Given the description of an element on the screen output the (x, y) to click on. 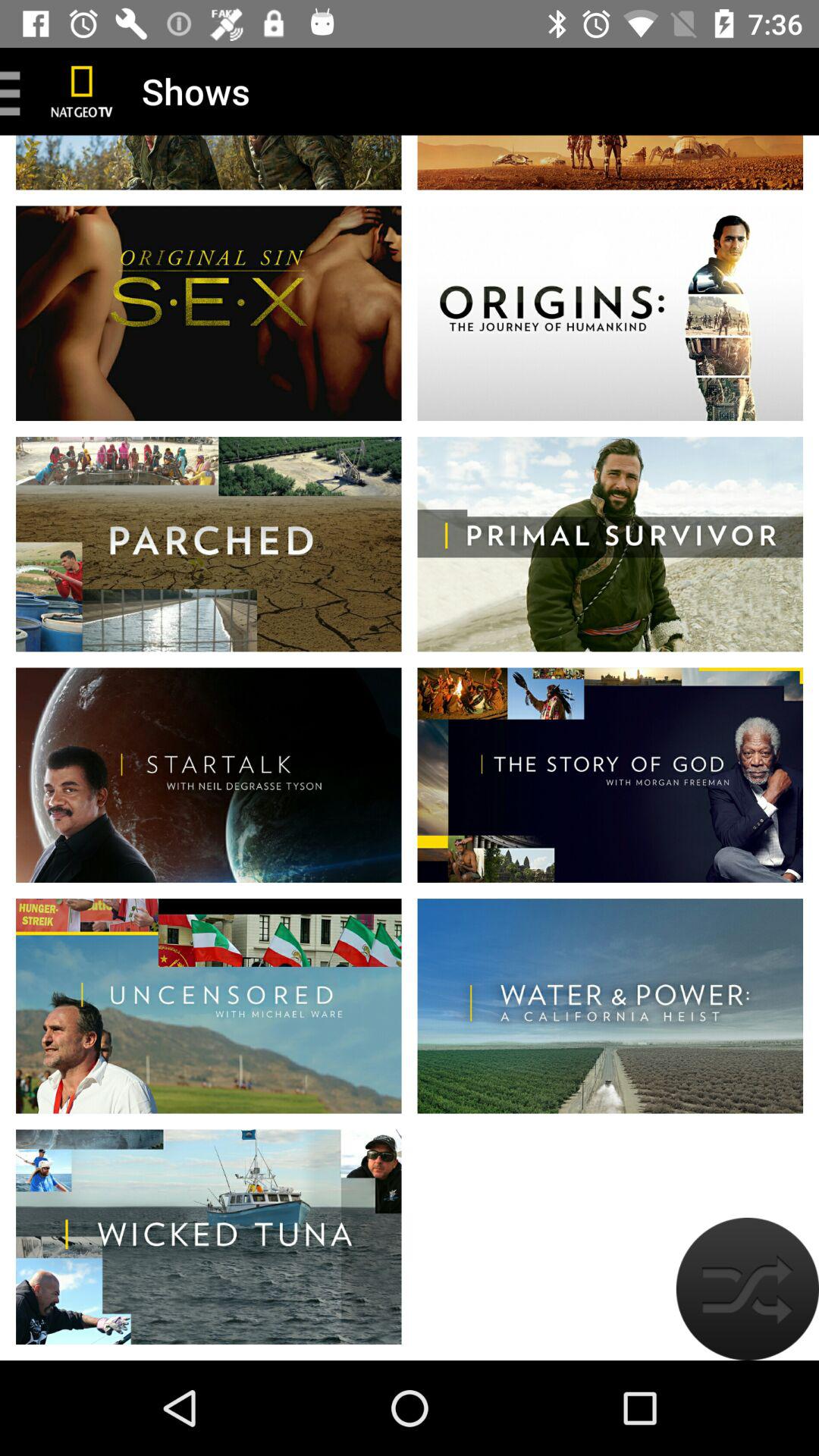
select icon next to the shows item (81, 91)
